Given the description of an element on the screen output the (x, y) to click on. 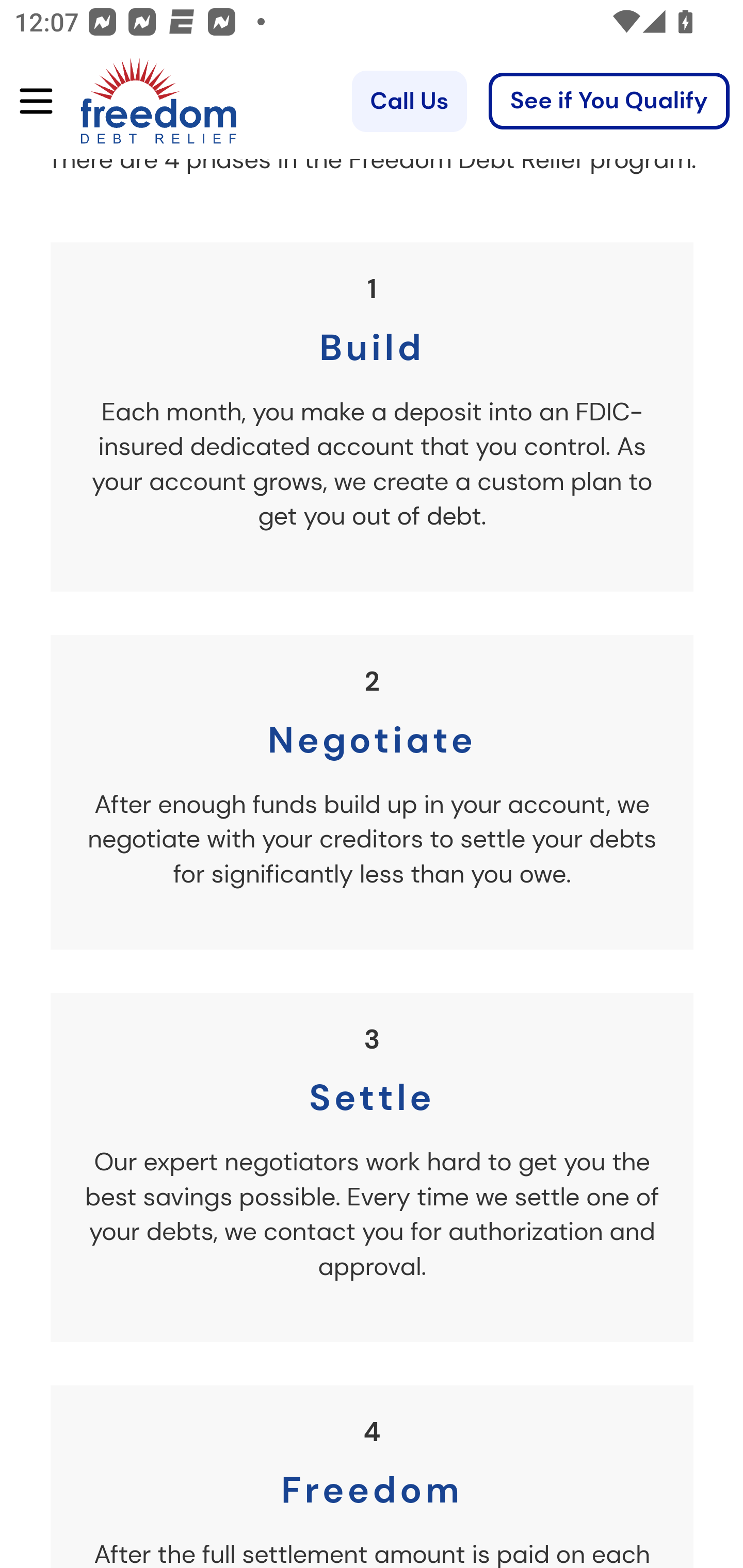
Freedom Debt Relief (130, 101)
Call Us (408, 101)
See if You Qualify (609, 101)
menu toggle (28, 101)
